Given the description of an element on the screen output the (x, y) to click on. 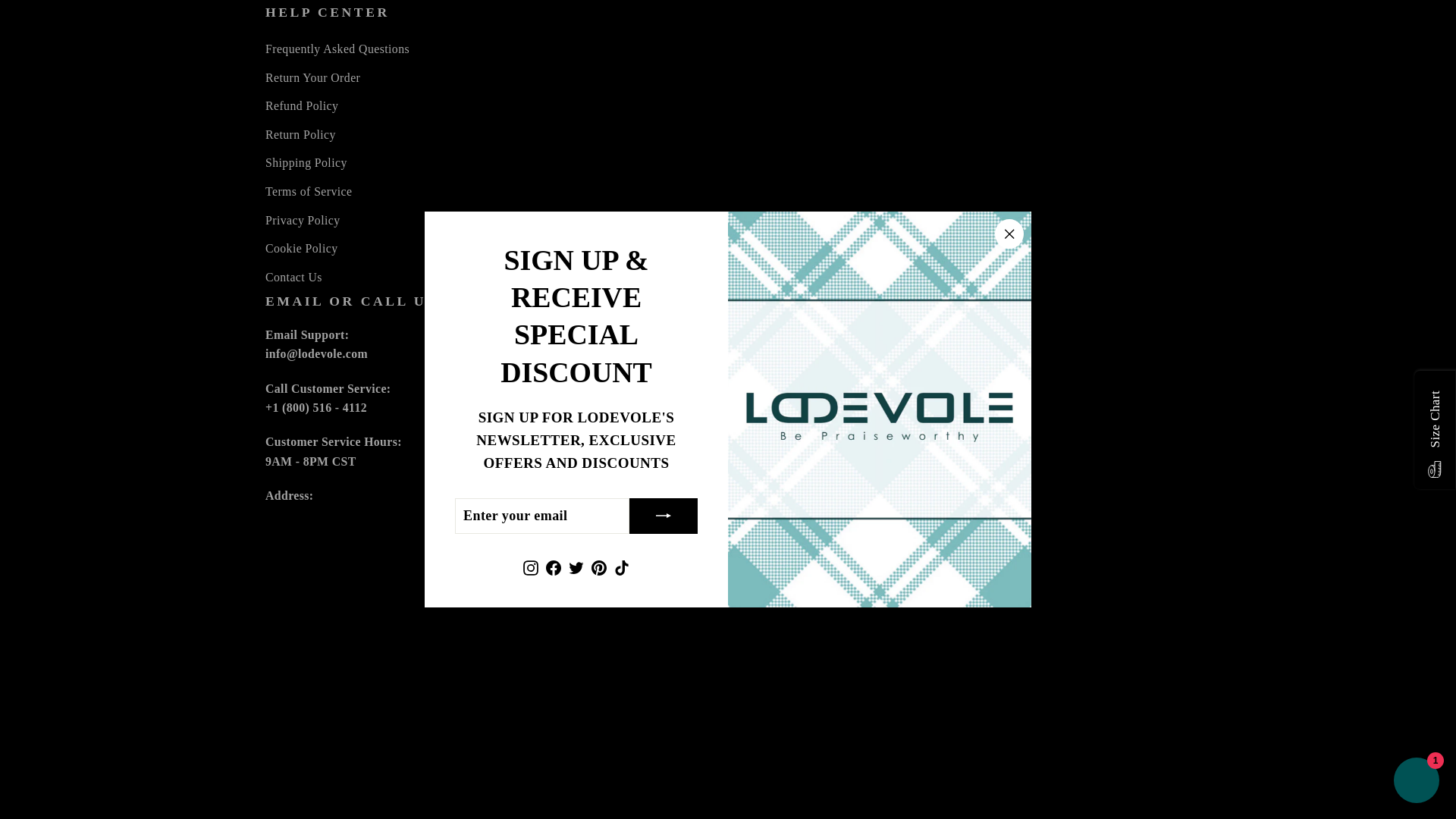
twitter (333, 708)
instagram (273, 708)
icon-email (282, 681)
